Given the description of an element on the screen output the (x, y) to click on. 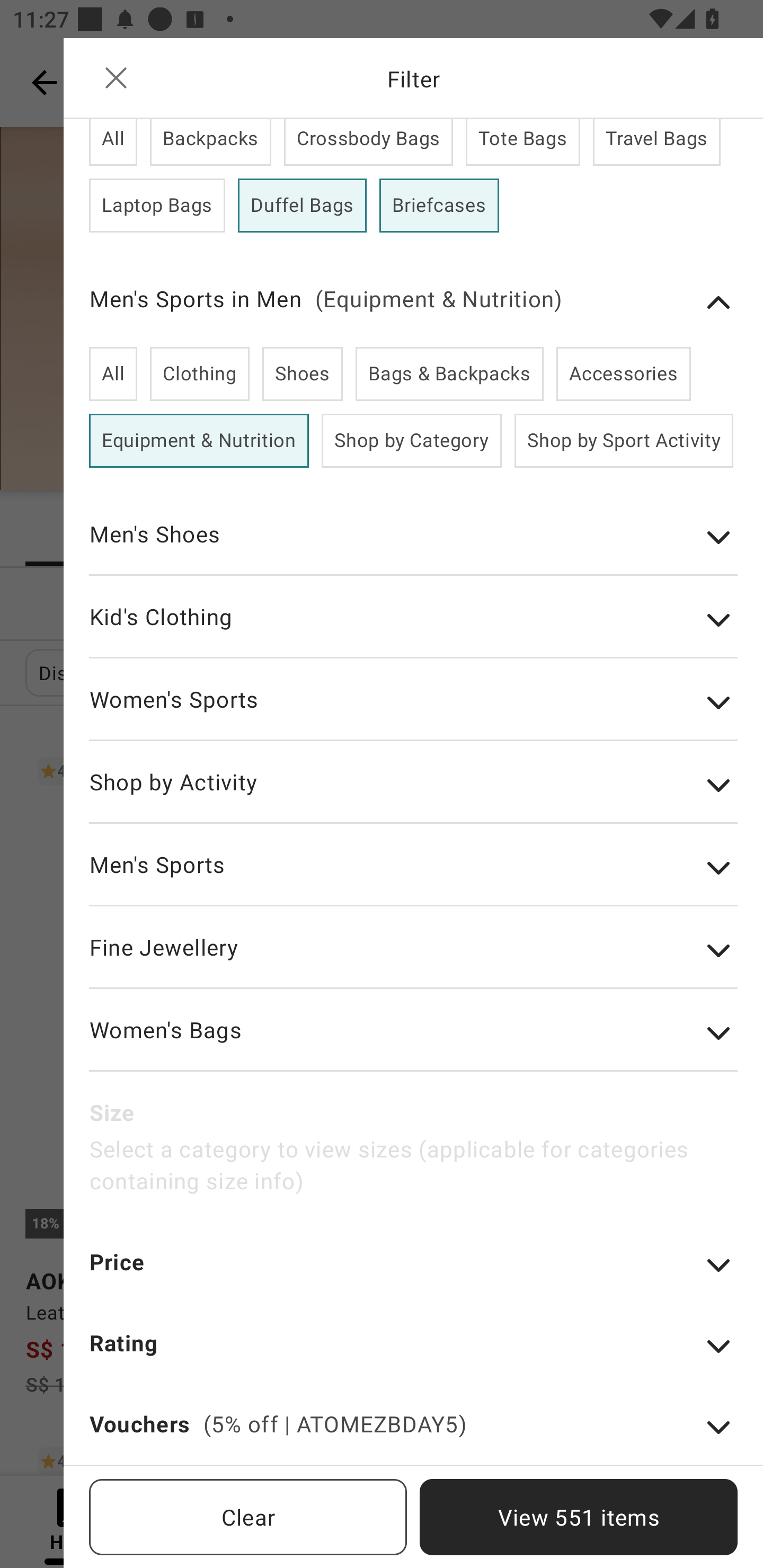
All (113, 142)
Backpacks (210, 142)
Crossbody Bags (368, 142)
Tote Bags (522, 142)
Travel Bags (656, 142)
Laptop Bags (157, 205)
Duffel Bags (302, 205)
Briefcases (439, 205)
Men's Sports in Men (Equipment & Nutrition) (413, 302)
All (113, 373)
Clothing (199, 373)
Shoes (302, 373)
Bags & Backpacks (449, 373)
Accessories (623, 373)
Equipment & Nutrition (199, 440)
Shop by Category (411, 440)
Shop by Sport Activity (623, 440)
Men's Shoes (413, 547)
Kid's Clothing (413, 629)
Women's Sports (413, 712)
Shop by Activity (413, 794)
Men's Sports (413, 877)
Fine Jewellery (413, 960)
Women's Bags (413, 1042)
Price (413, 1273)
Rating (413, 1355)
Vouchers (5% off | ATOMEZBDAY5) (413, 1436)
Clear (247, 1516)
View 551 items (578, 1516)
